Given the description of an element on the screen output the (x, y) to click on. 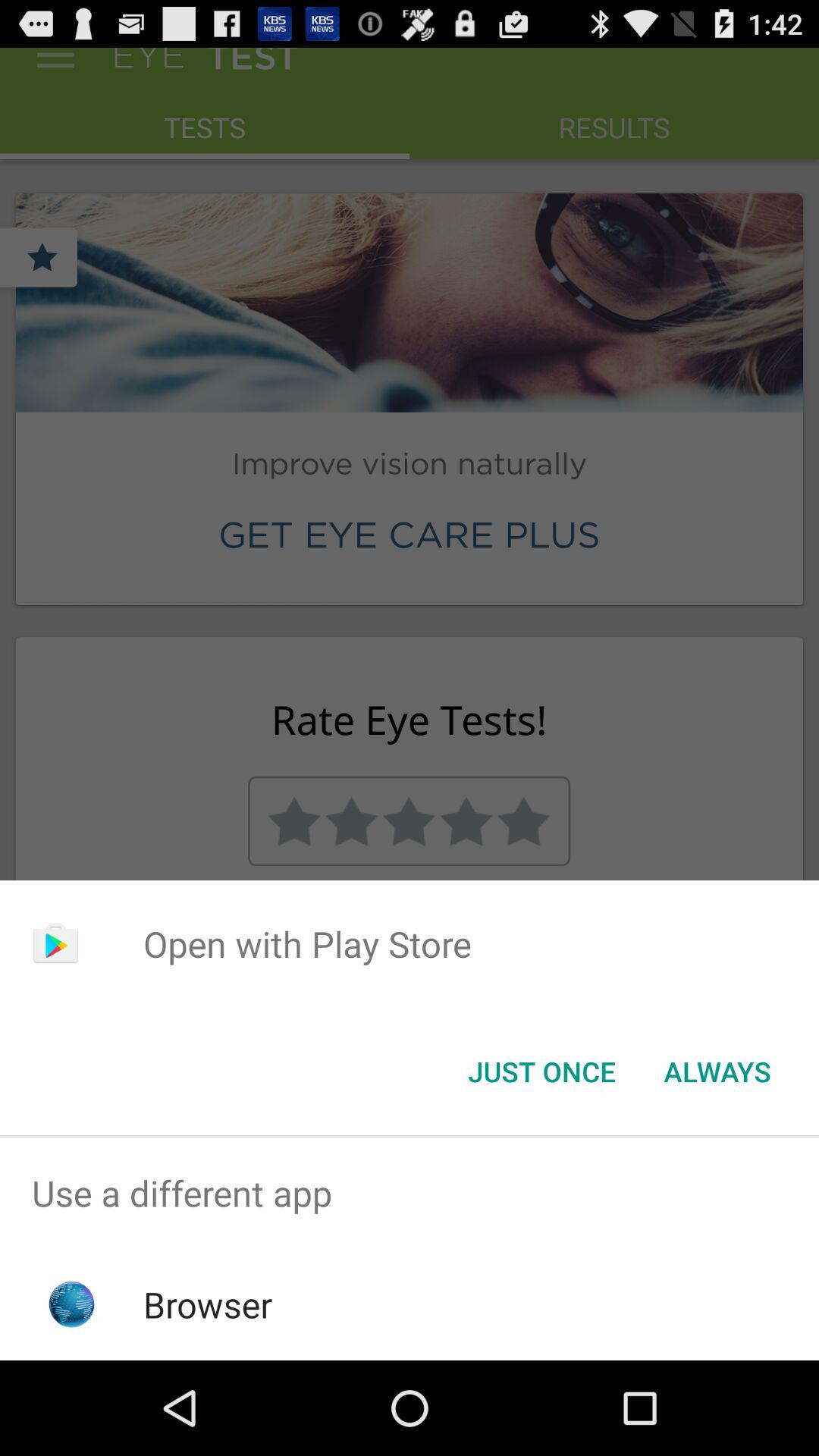
open the button to the right of just once icon (717, 1071)
